Given the description of an element on the screen output the (x, y) to click on. 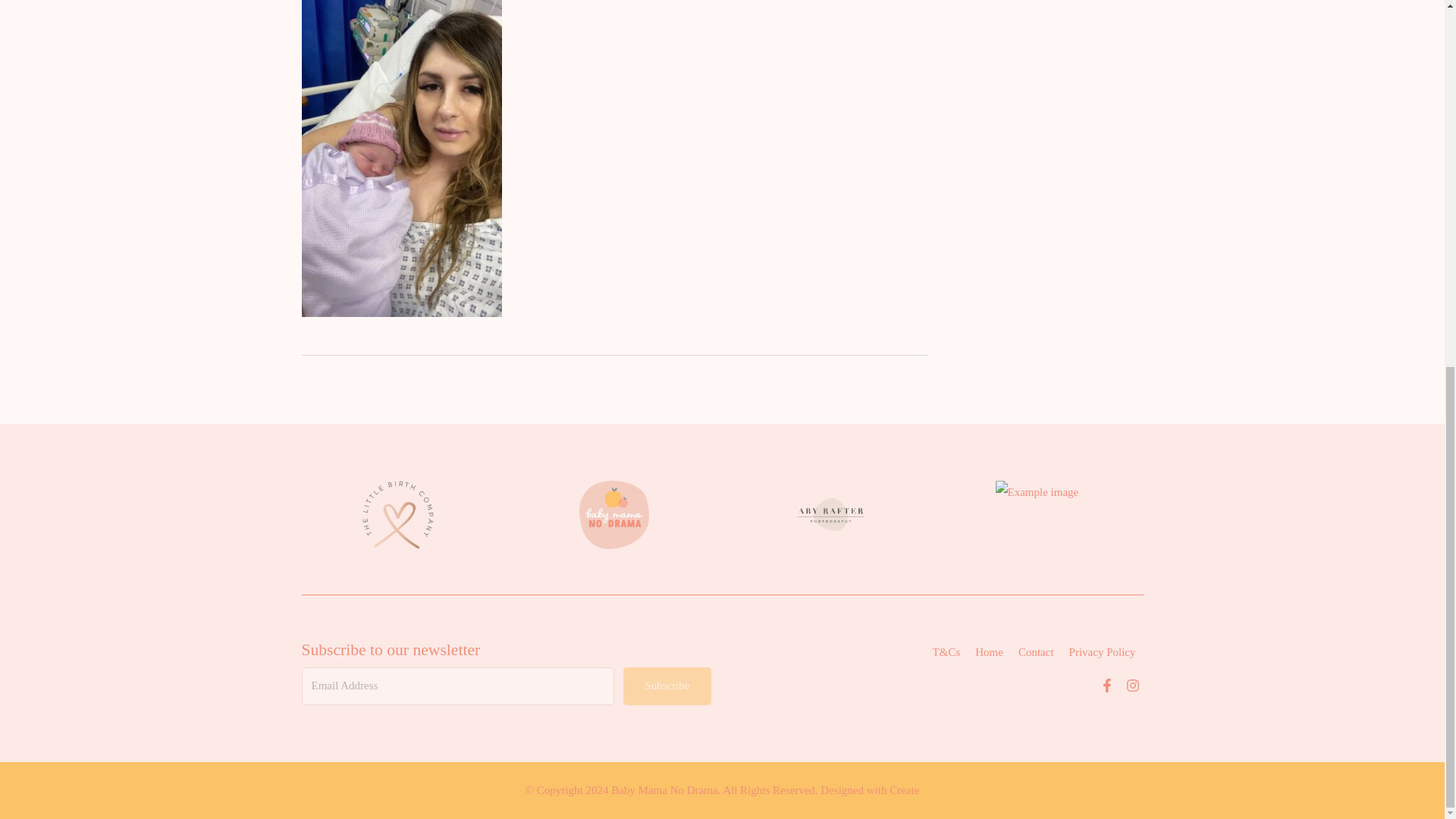
Create (903, 789)
instagram (1132, 687)
Contact (1035, 652)
Aby Rafter Photography (830, 514)
Home (989, 652)
Lotus Photography Website (1045, 514)
Subscribe (666, 686)
facebook (1106, 687)
Privacy Policy (1101, 652)
